Given the description of an element on the screen output the (x, y) to click on. 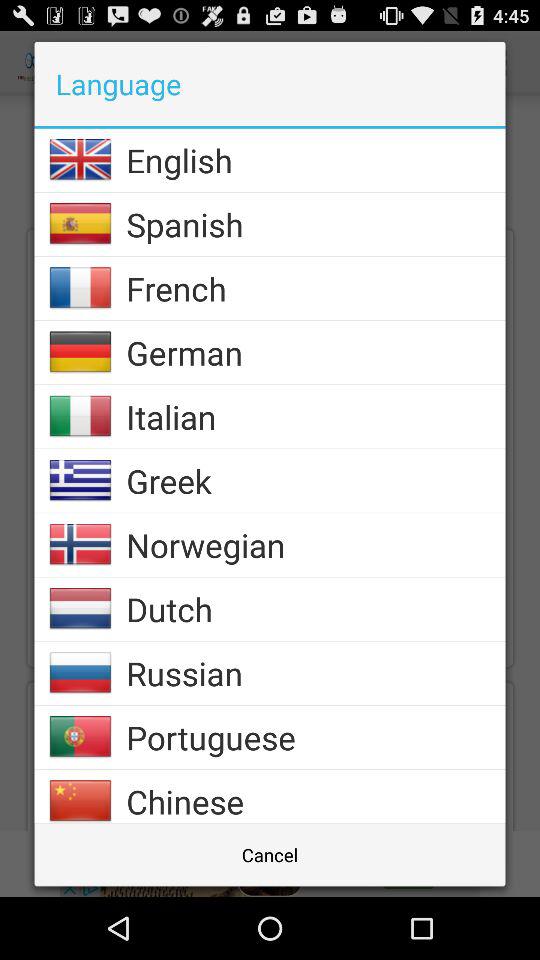
click cancel button (269, 854)
